Given the description of an element on the screen output the (x, y) to click on. 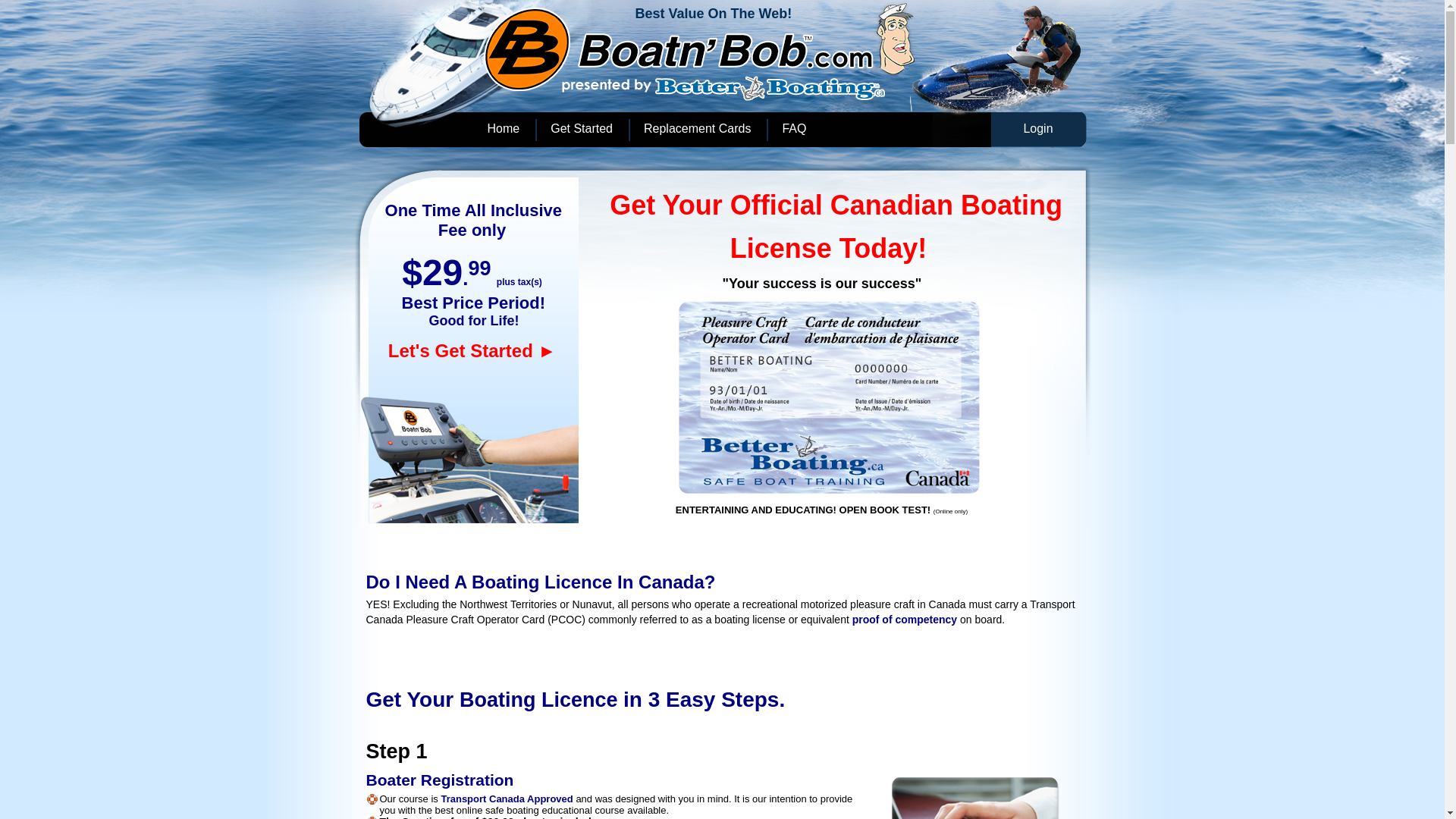
Login Element type: text (1038, 129)
Home Element type: text (503, 129)
Get Your Official Canadian Boating Element type: text (835, 204)
Transport Canada Approved Element type: text (507, 798)
Best Price Period! Element type: text (473, 304)
License Today! Element type: text (828, 247)
FAQ Element type: text (794, 129)
Get Started Element type: text (581, 129)
proof of competency Element type: text (904, 619)
 Good for Life! Element type: text (471, 320)
One Time All Inclusive Fee Element type: text (473, 222)
Replacement Cards Element type: text (697, 129)
  Element type: text (399, 304)
$29.99 plus tax(s) Element type: text (471, 281)
